Given the description of an element on the screen output the (x, y) to click on. 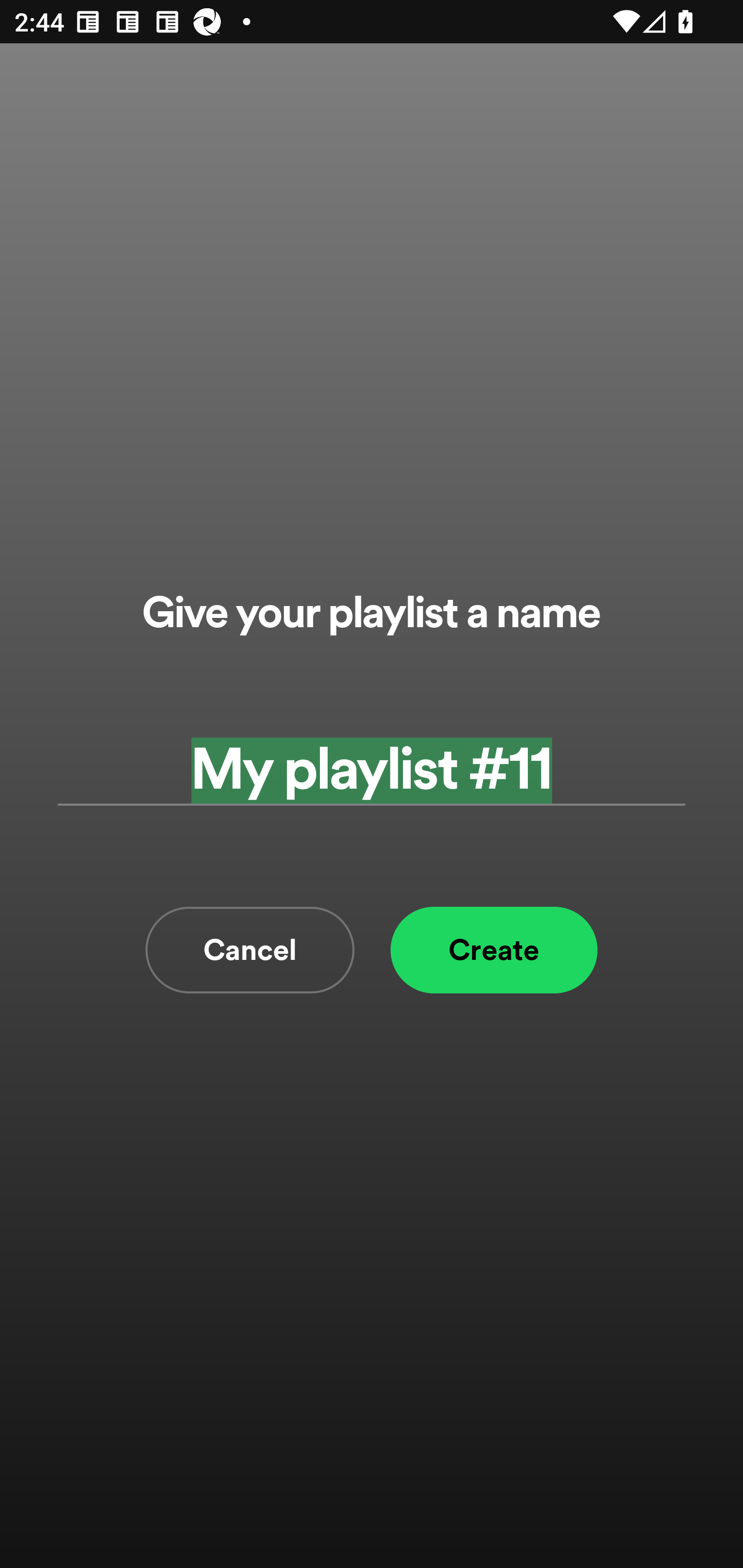
My playlist #11 Add a playlist name (371, 769)
Cancel (249, 950)
Create (493, 950)
